Given the description of an element on the screen output the (x, y) to click on. 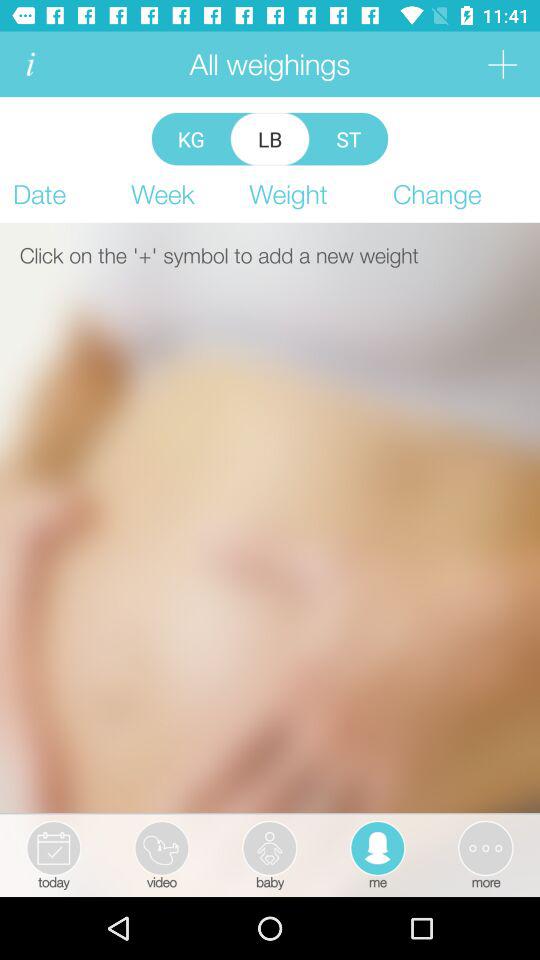
click the item below all weighings (269, 138)
